Given the description of an element on the screen output the (x, y) to click on. 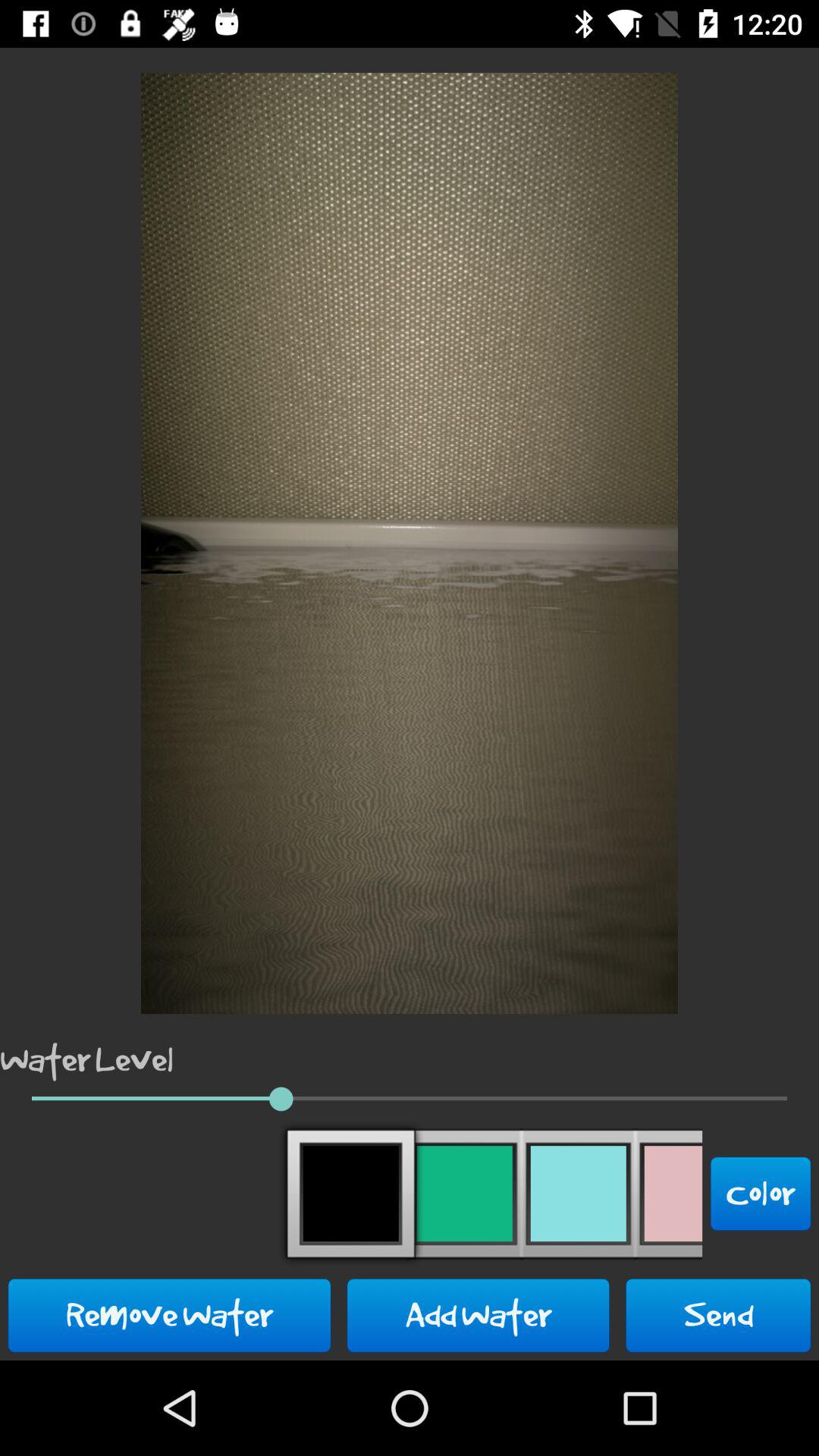
select the icon next to add water button (169, 1315)
